Given the description of an element on the screen output the (x, y) to click on. 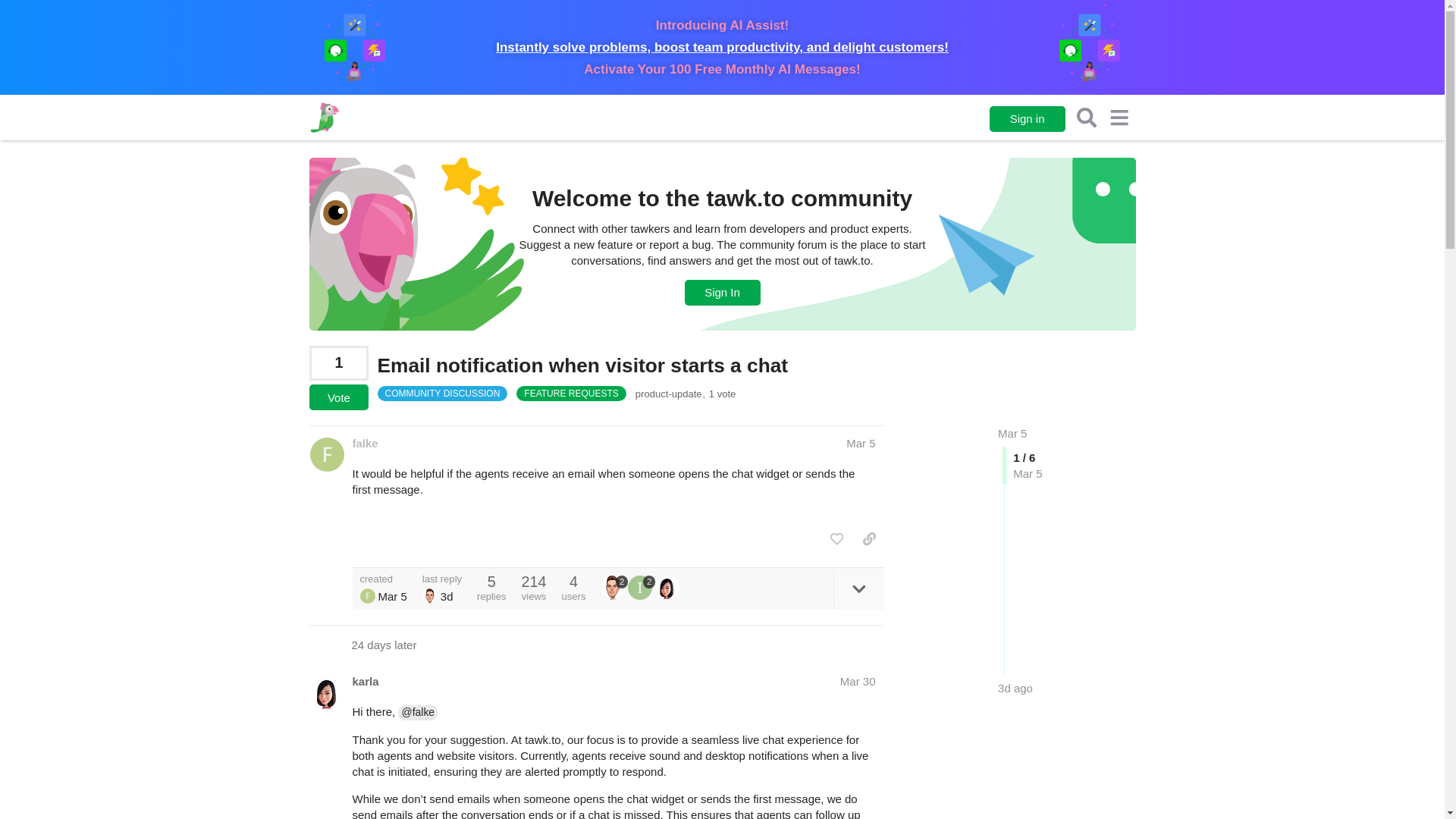
Kristaps (430, 595)
Sign in (1027, 118)
share a link to this post (869, 538)
karla (365, 681)
1 vote (722, 394)
Jul 19, 2024 5:20 am (1014, 687)
Mar 30 (858, 680)
Mar 5 (860, 442)
3d ago (1014, 688)
Sign In (722, 292)
last reply (441, 578)
Mar 5 (1011, 432)
Email notification when visitor starts a chat (583, 364)
